Given the description of an element on the screen output the (x, y) to click on. 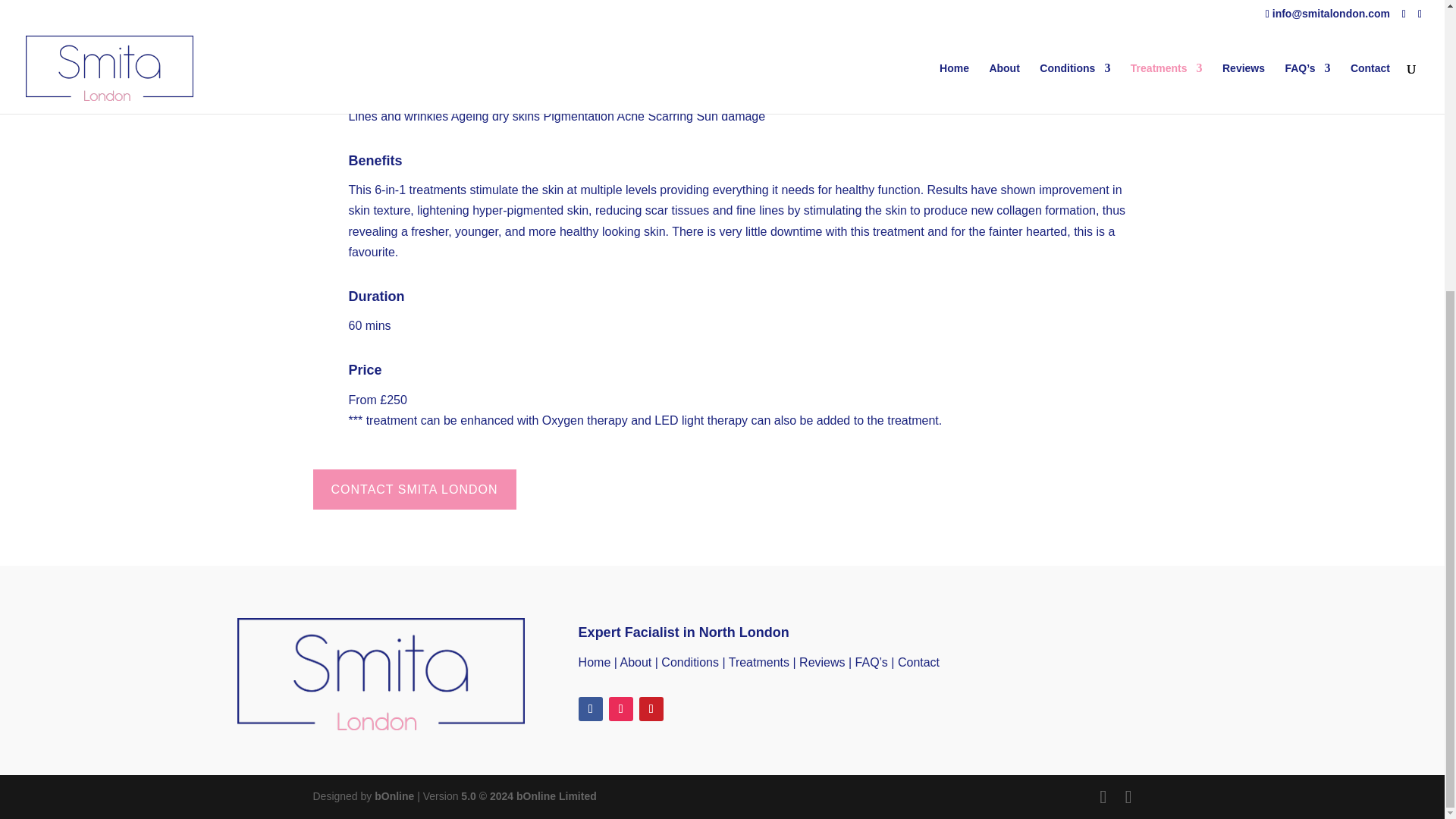
About Smita London (635, 661)
Frequently asked questions and answers (872, 661)
Reviews (821, 661)
Home (594, 661)
Follow on Instagram (620, 708)
Contact Smita London (918, 661)
Common skin and hair conditions (690, 661)
Aesthetic Treatments (759, 661)
Follow on Facebook (590, 708)
